Given the description of an element on the screen output the (x, y) to click on. 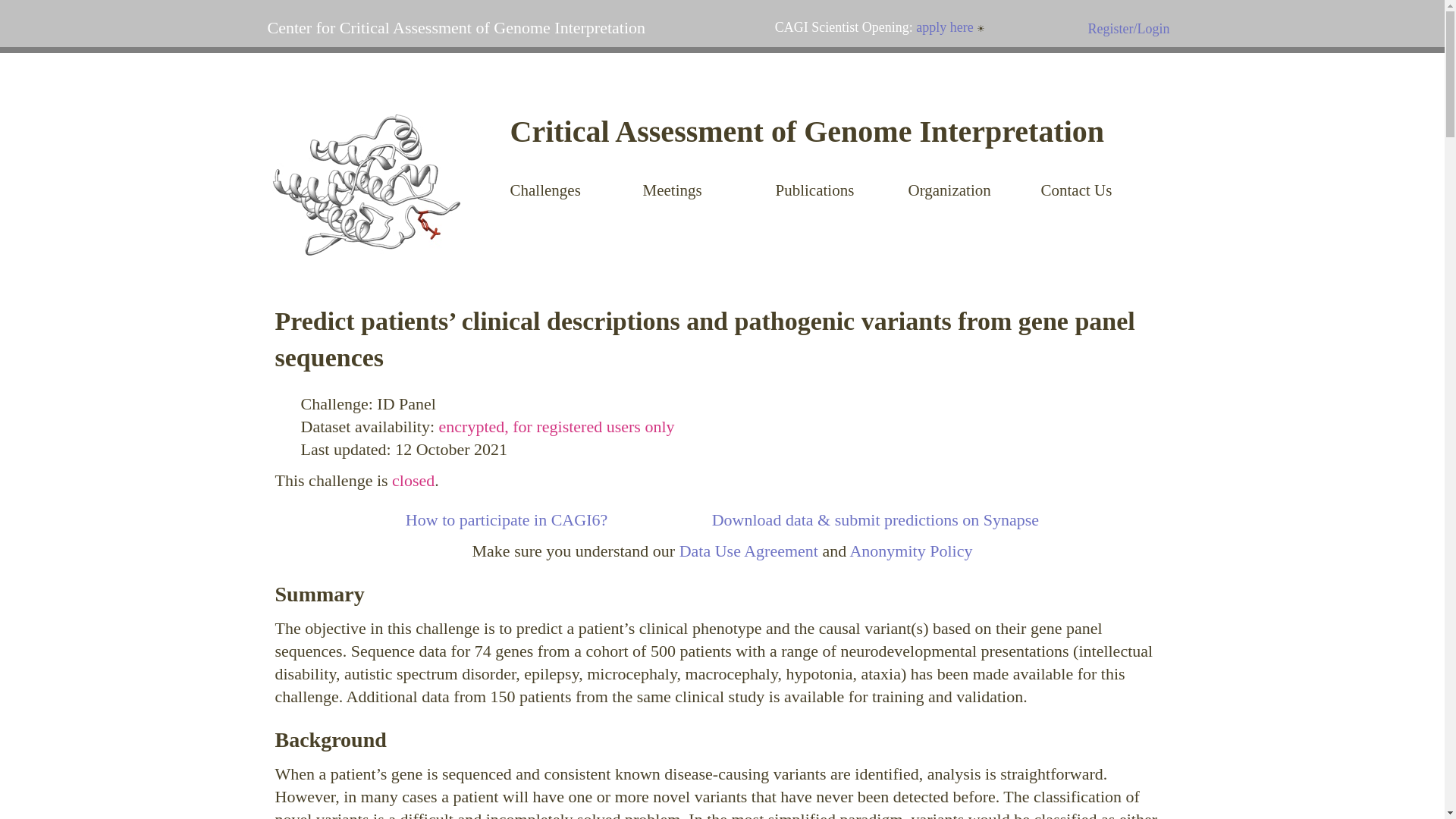
Anonymity Policy (910, 550)
apply here (943, 27)
Data Use Agreement (748, 550)
ritical Assessment of Genome Interpretation (817, 131)
Center for Critical Assessment of Genome Interpretation (455, 27)
Login (1153, 28)
Register (1109, 28)
How to participate in CAGI6? (506, 519)
